Given the description of an element on the screen output the (x, y) to click on. 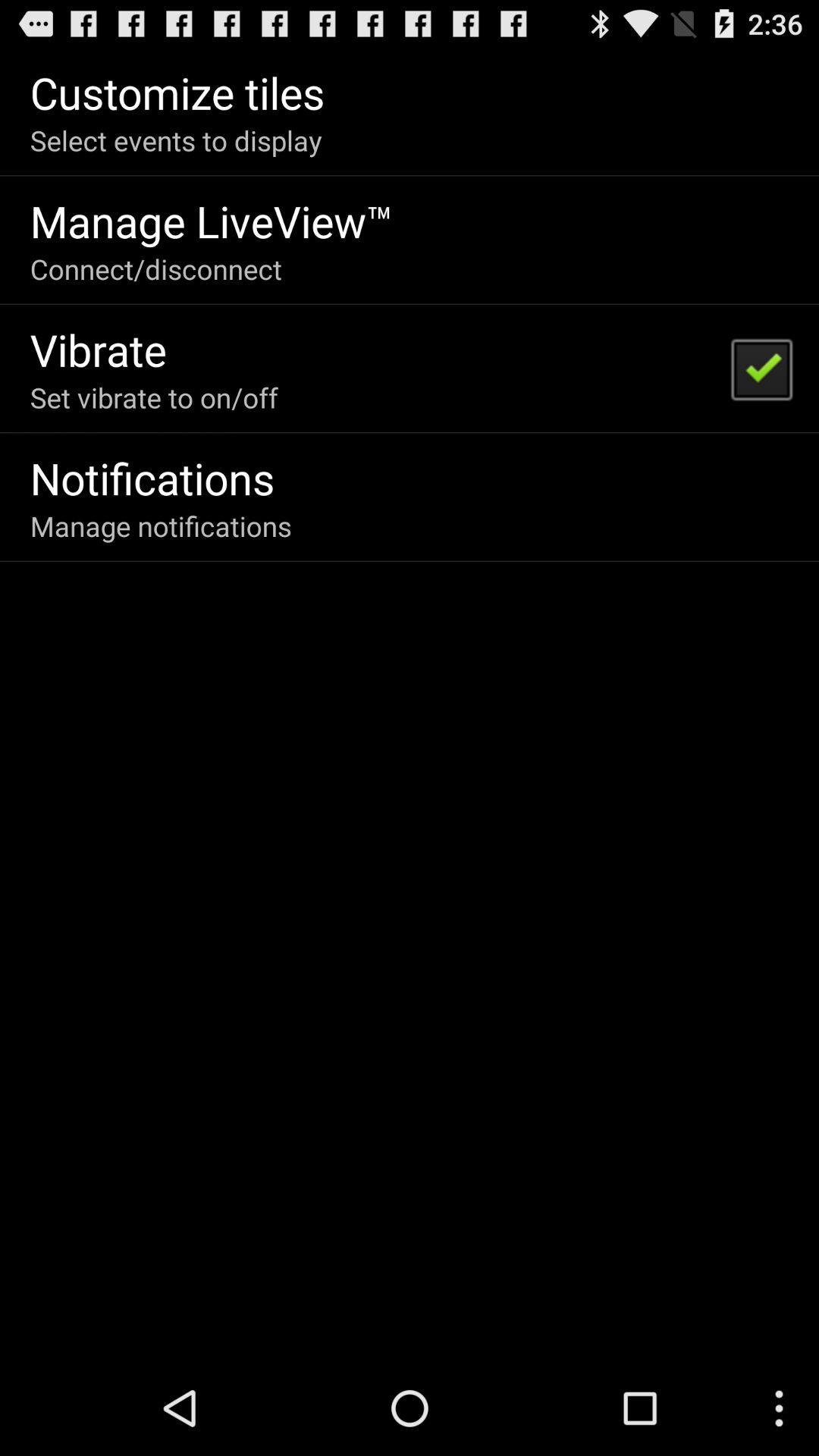
scroll until the customize tiles item (177, 92)
